Given the description of an element on the screen output the (x, y) to click on. 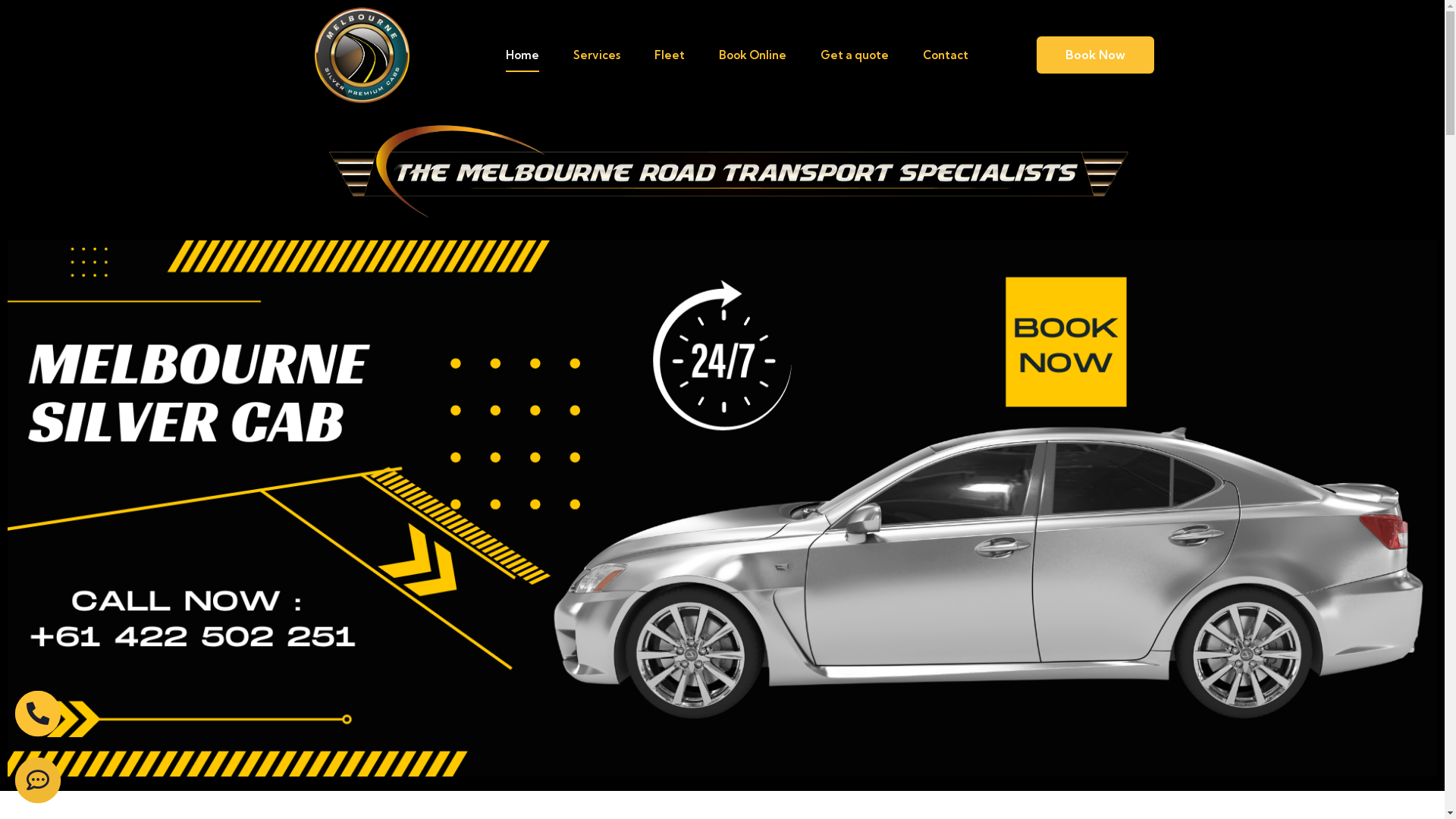
Book Online Element type: text (752, 54)
Get a quote Element type: text (854, 54)
Book Now Element type: text (1095, 54)
Contact Element type: text (945, 54)
Fleet Element type: text (669, 54)
Home Element type: text (522, 54)
Services Element type: text (596, 54)
